Given the description of an element on the screen output the (x, y) to click on. 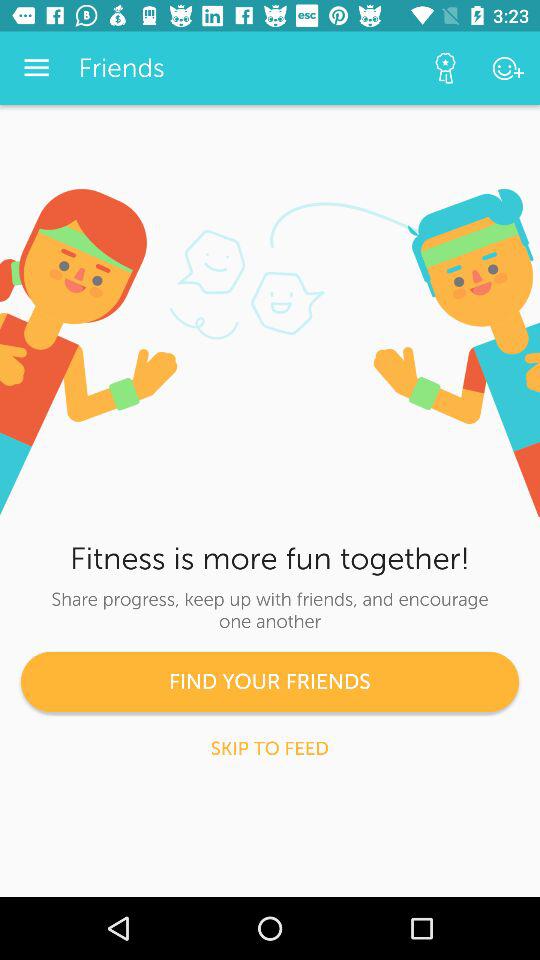
flip to find your friends (270, 681)
